Given the description of an element on the screen output the (x, y) to click on. 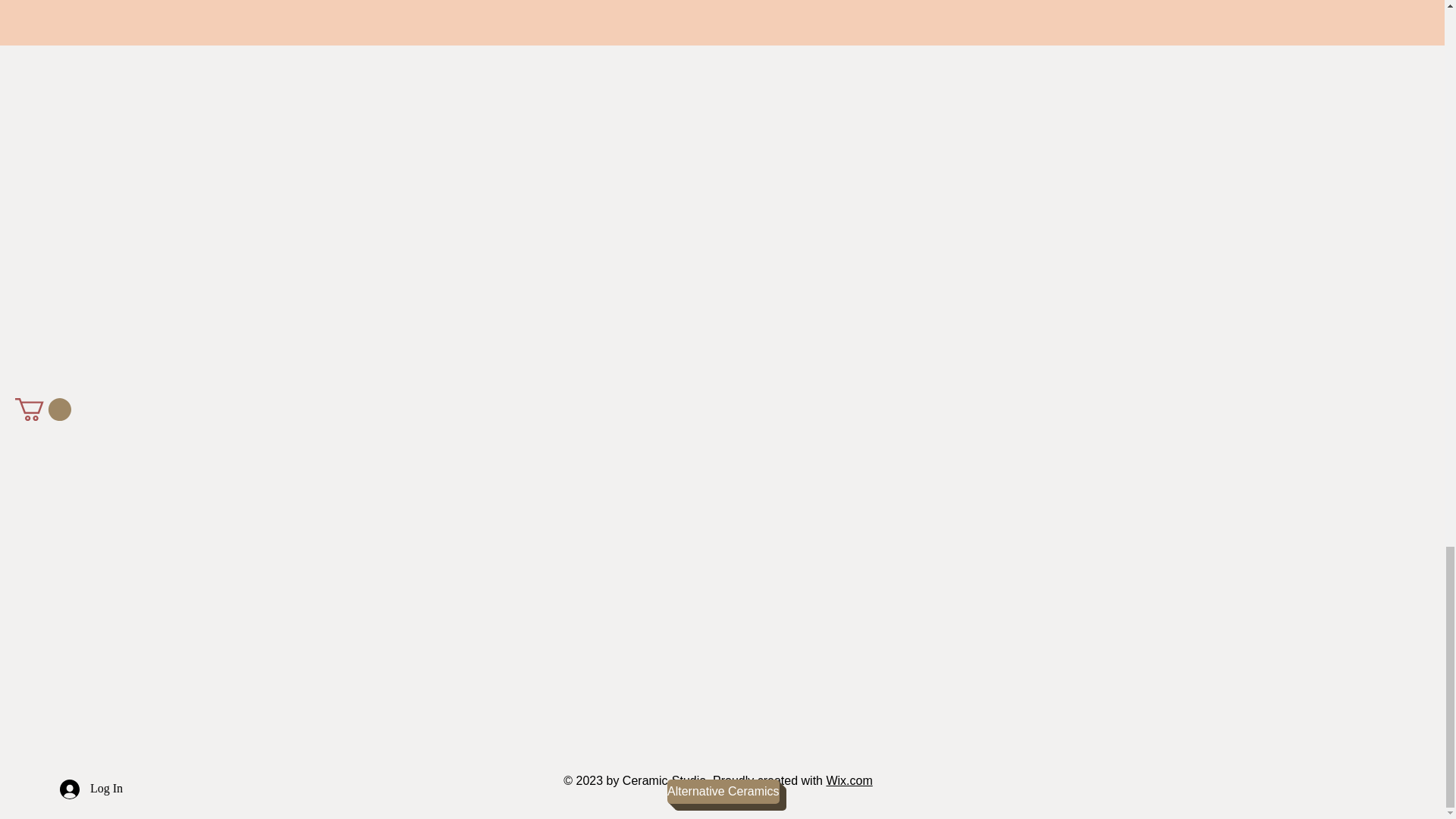
Wix.com (848, 780)
